Given the description of an element on the screen output the (x, y) to click on. 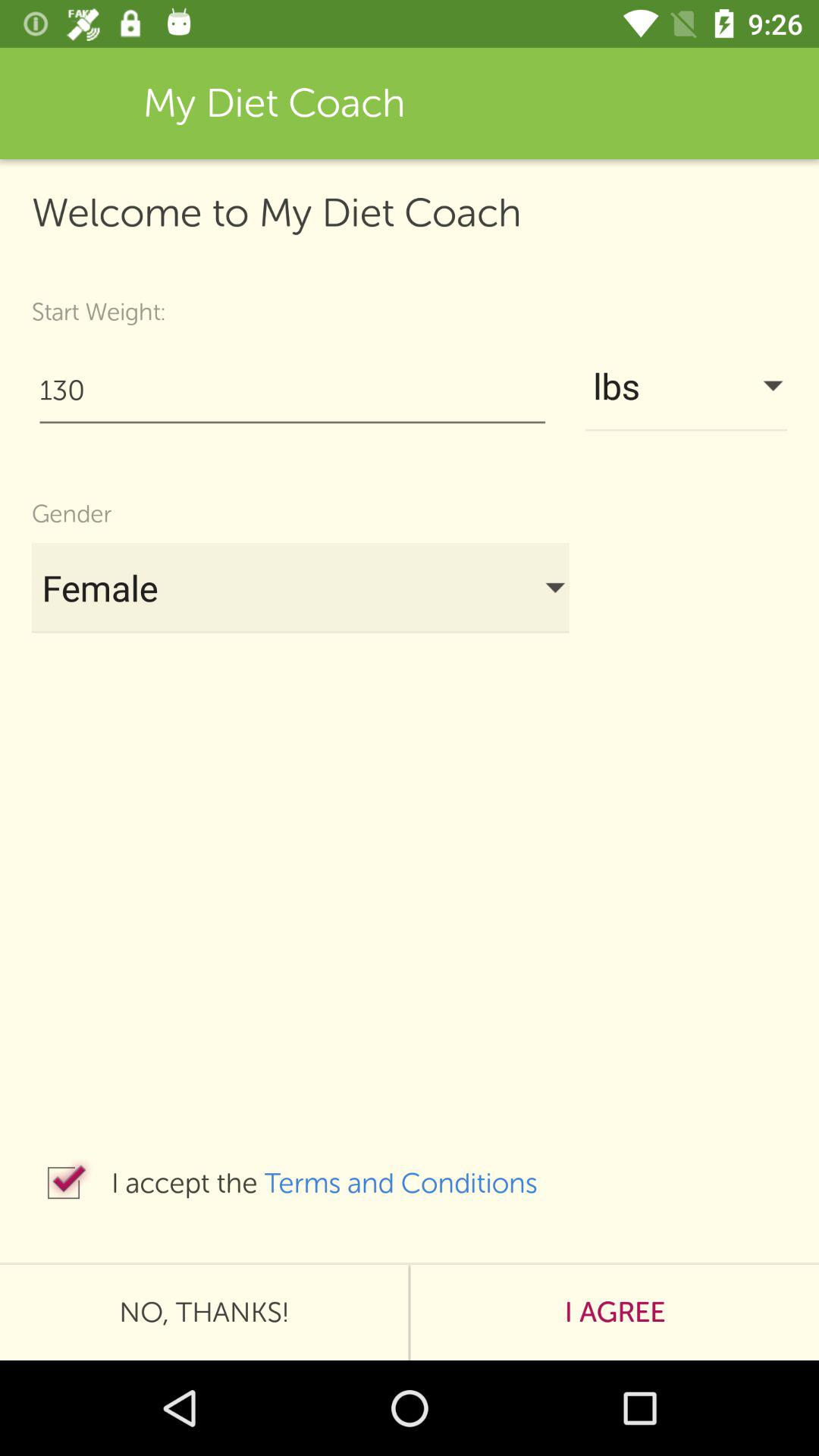
choose the icon to the left of the i accept the (63, 1182)
